Given the description of an element on the screen output the (x, y) to click on. 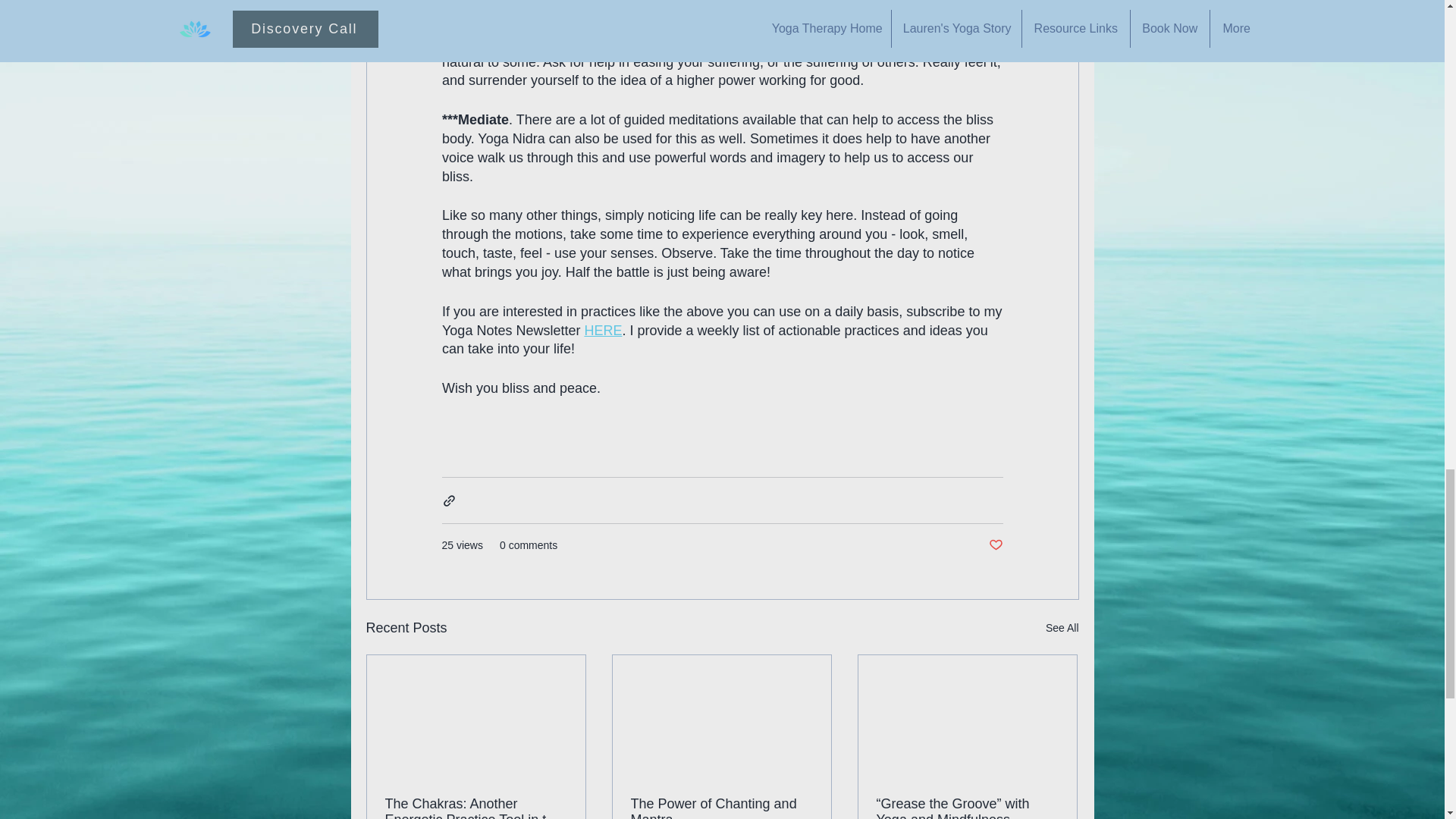
Post not marked as liked (995, 545)
The Chakras: Another Energetic Practice Tool in the Box (476, 807)
HERE (602, 330)
The Power of Chanting and Mantra (721, 807)
See All (1061, 628)
